Given the description of an element on the screen output the (x, y) to click on. 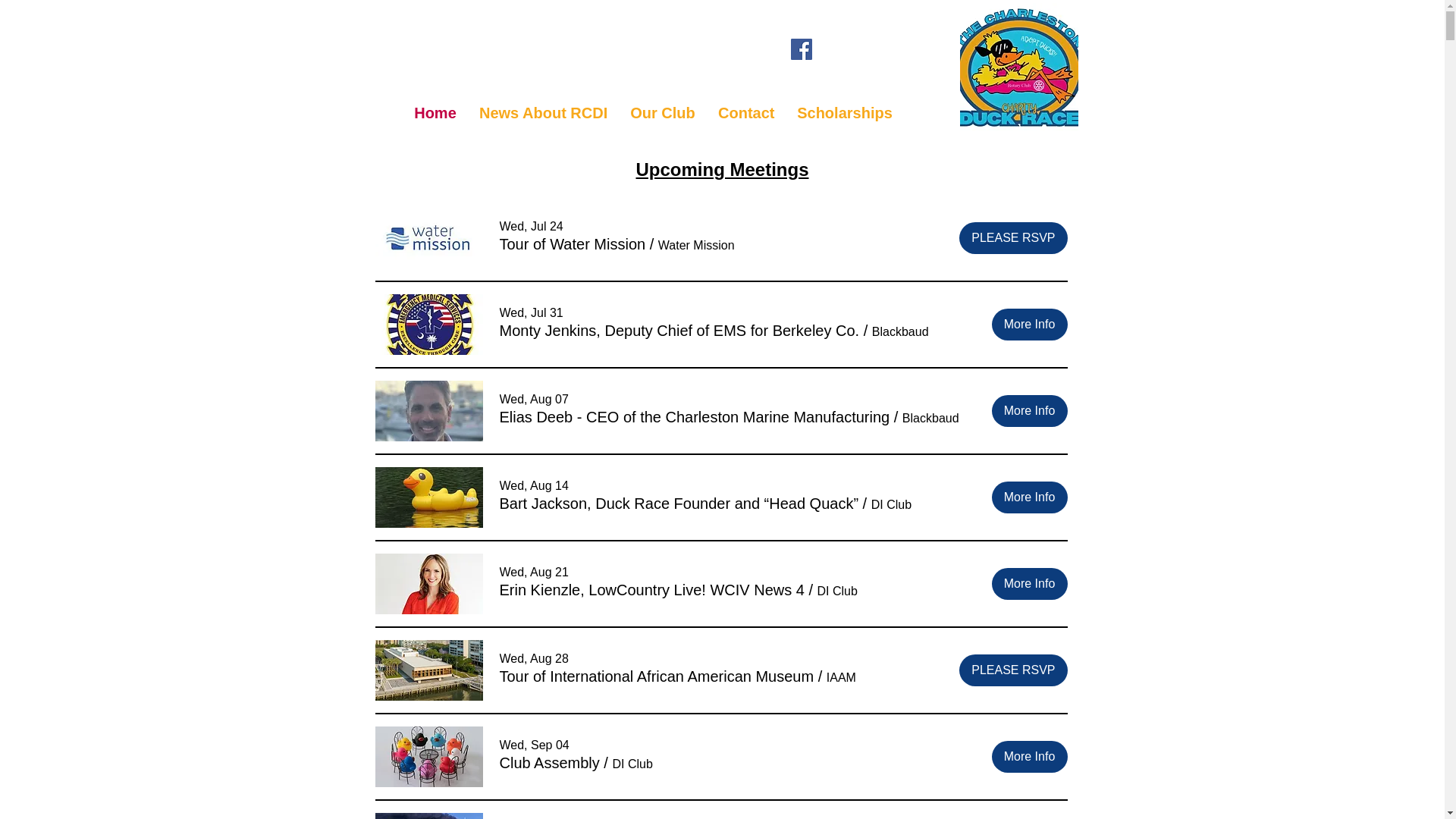
Scholarships (845, 112)
More Info (1029, 497)
More Info (1029, 410)
PLEASE RSVP (1013, 237)
News About RCDI (542, 112)
Home (435, 112)
Contact (746, 112)
More Info (1029, 583)
More Info (1029, 324)
